Given the description of an element on the screen output the (x, y) to click on. 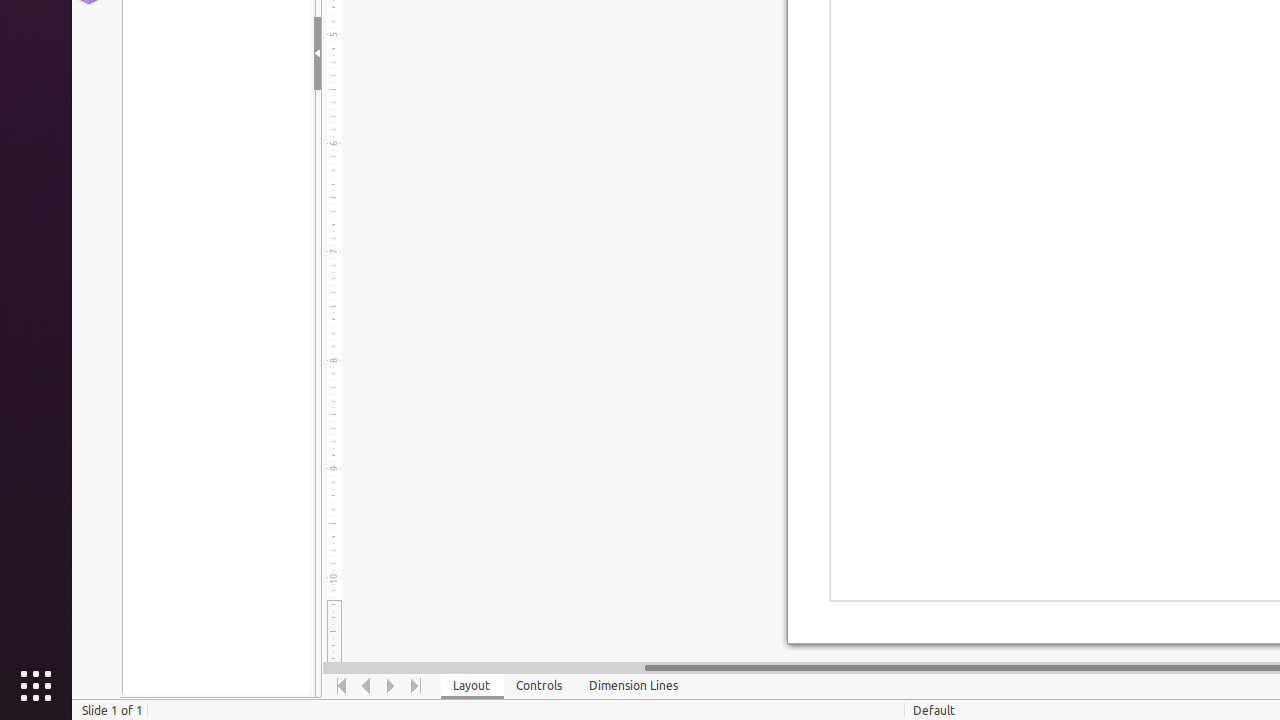
Move To Home Element type: push-button (341, 686)
Move Right Element type: push-button (391, 686)
Move Left Element type: push-button (366, 686)
